Given the description of an element on the screen output the (x, y) to click on. 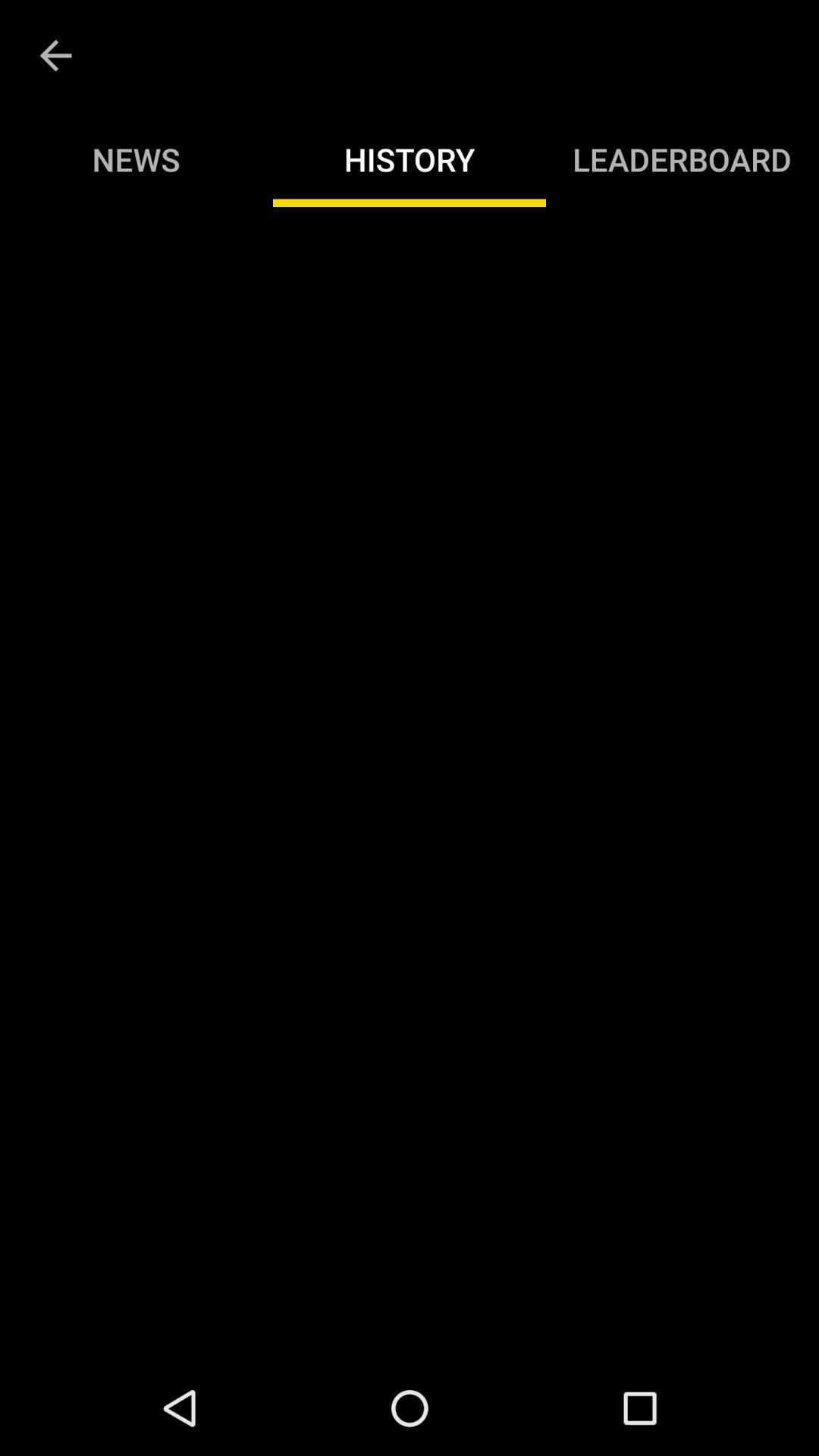
open icon above the news icon (55, 55)
